Given the description of an element on the screen output the (x, y) to click on. 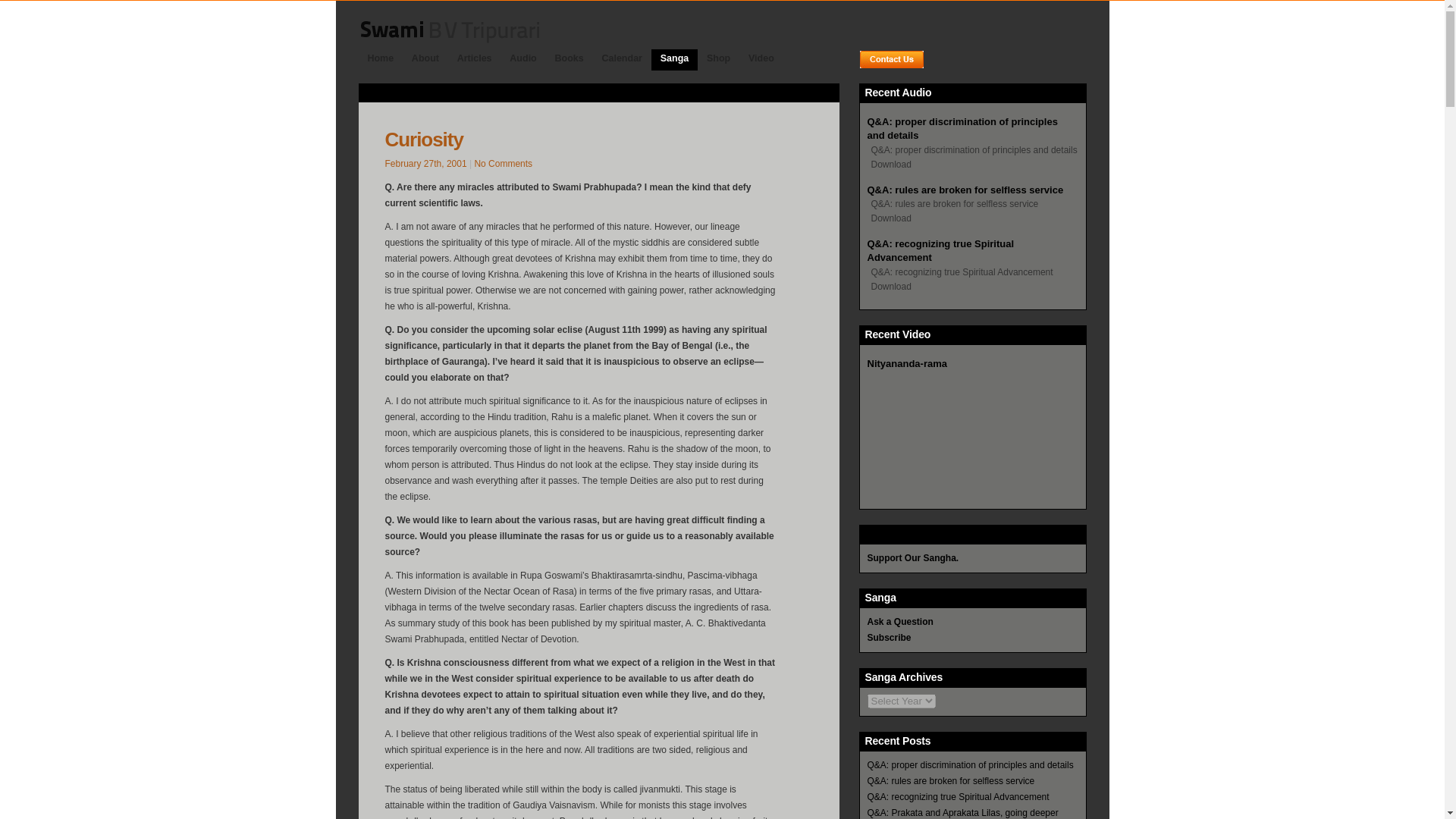
Articles (474, 58)
Download (889, 215)
Video (761, 58)
Nityananda-rama (907, 363)
Sanga (673, 68)
Download (889, 283)
Download (889, 161)
Calendar (621, 58)
Audio (522, 58)
Support Our Sangha. (913, 557)
